Given the description of an element on the screen output the (x, y) to click on. 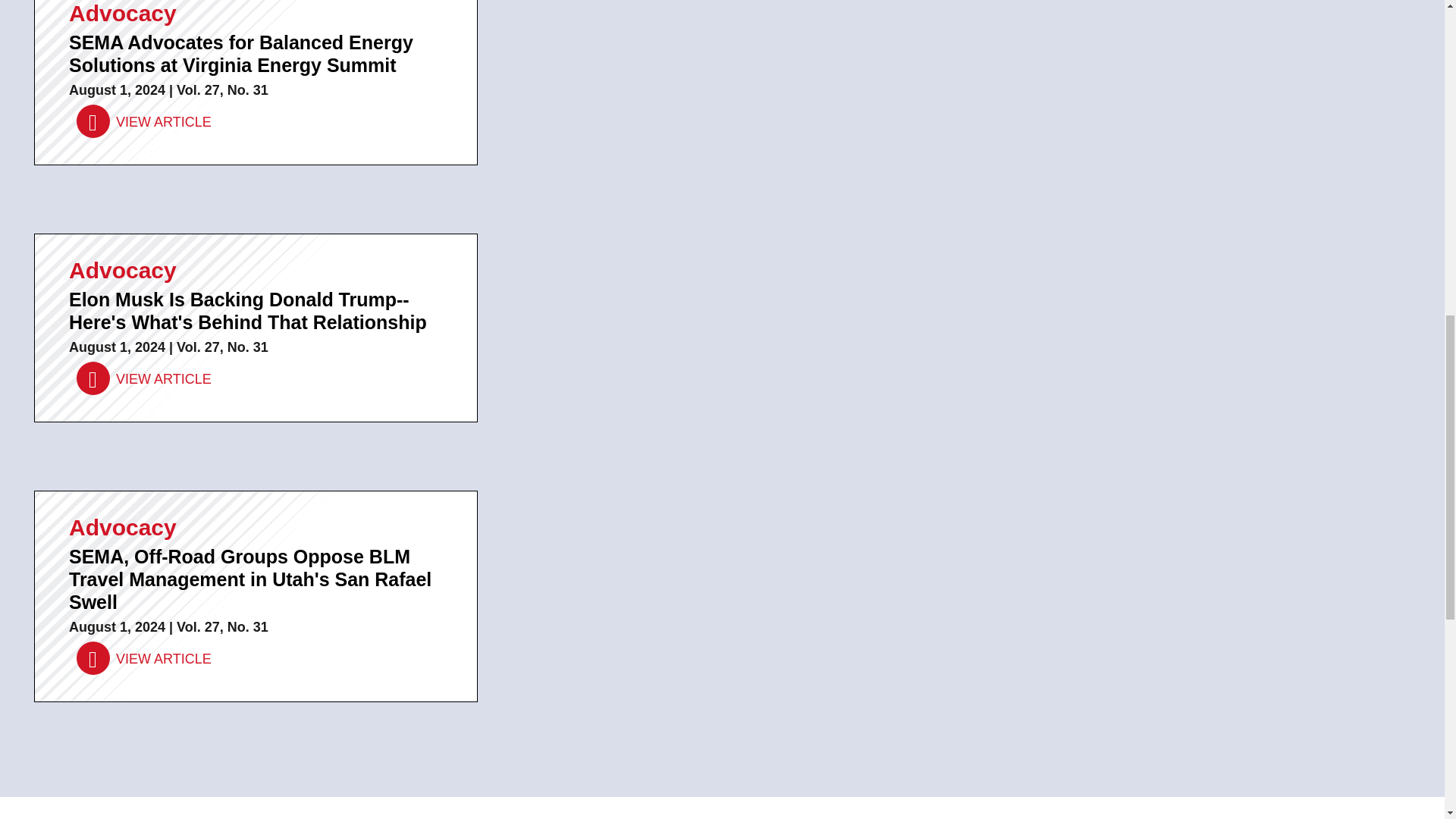
VIEW ARTICLE (143, 378)
VIEW ARTICLE (143, 658)
VIEW ARTICLE (143, 122)
